Given the description of an element on the screen output the (x, y) to click on. 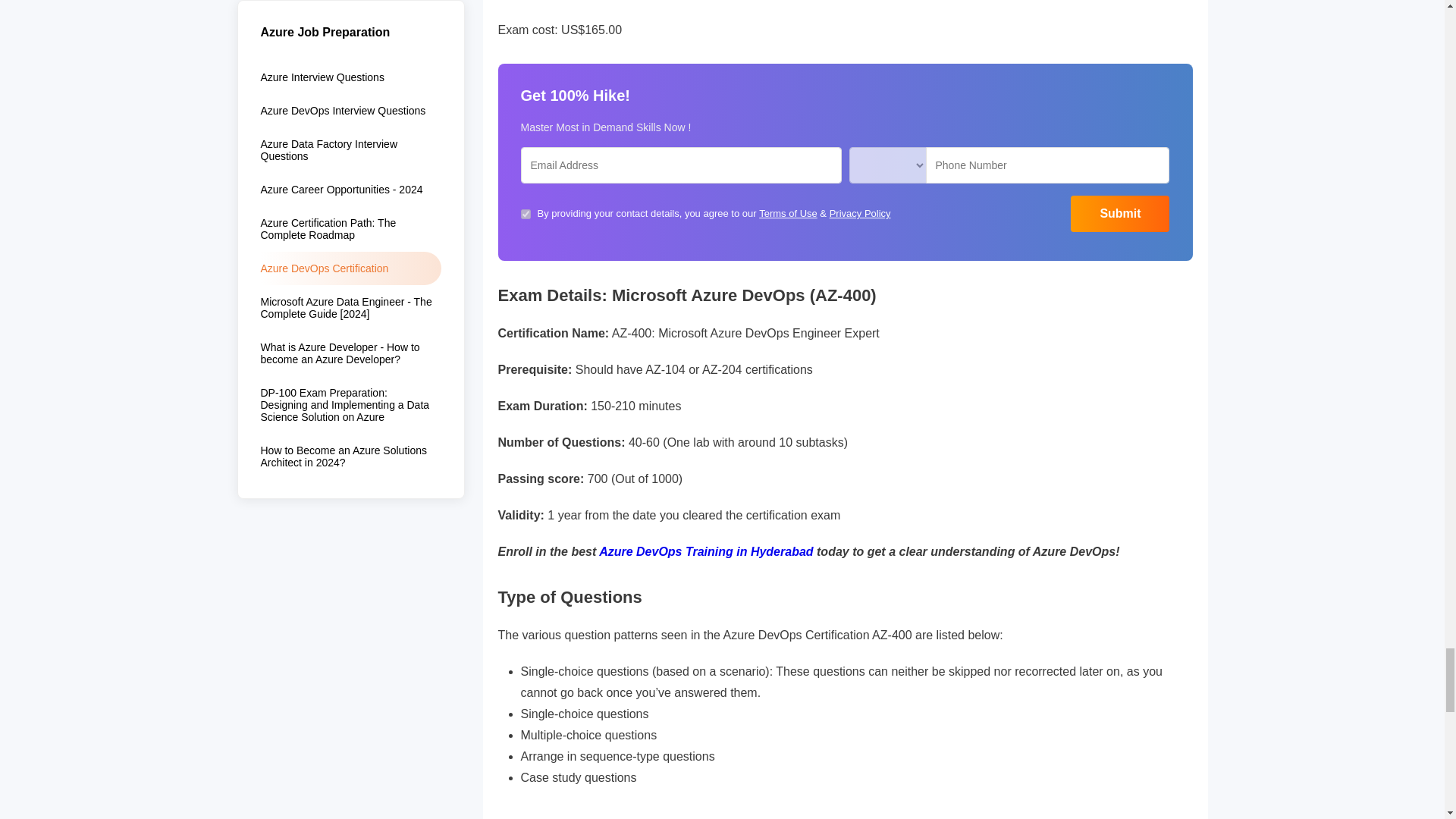
Submit (1119, 213)
on (524, 214)
